Given the description of an element on the screen output the (x, y) to click on. 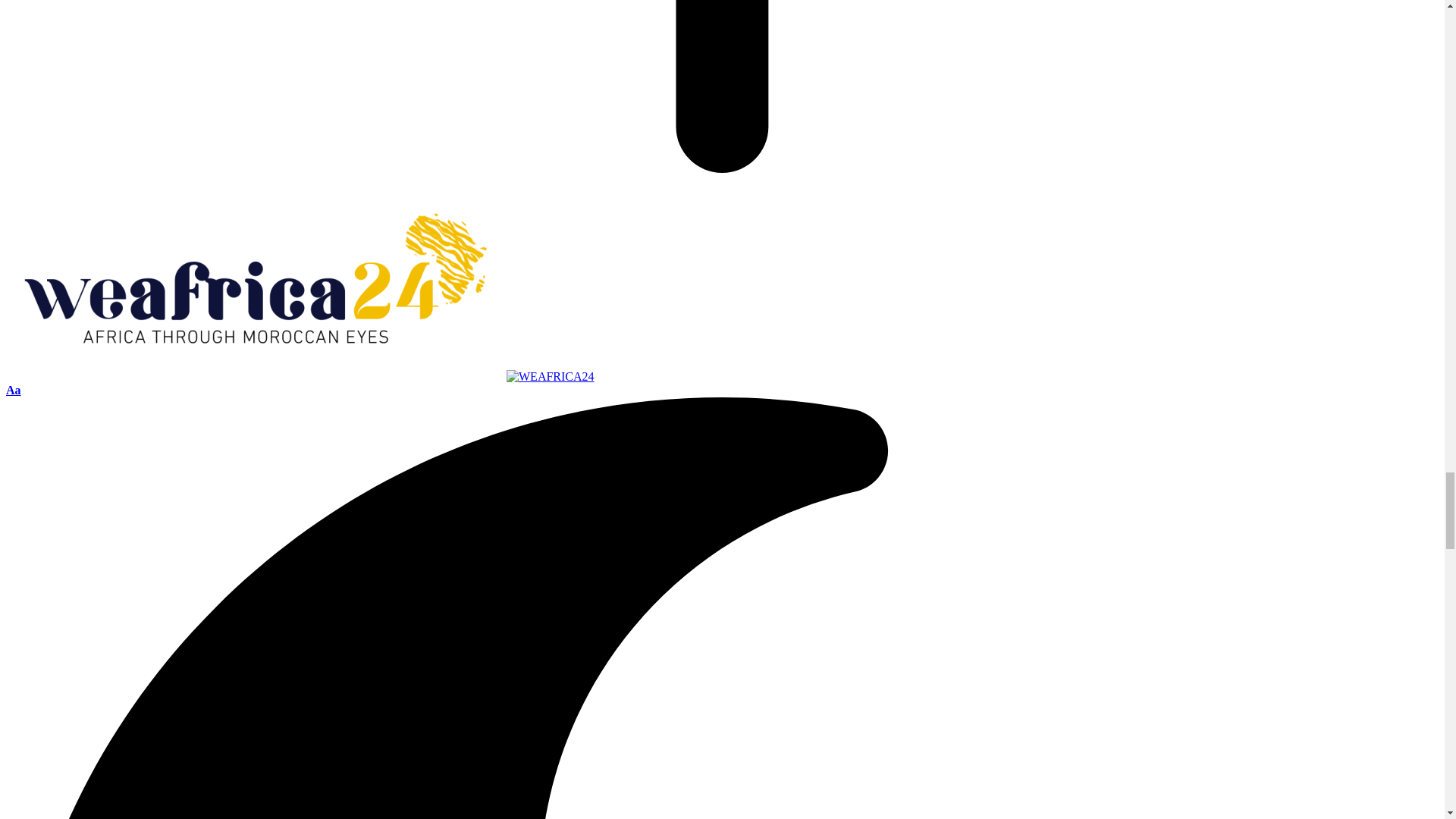
WEAFRICA24 (299, 376)
Aa (13, 390)
